Given the description of an element on the screen output the (x, y) to click on. 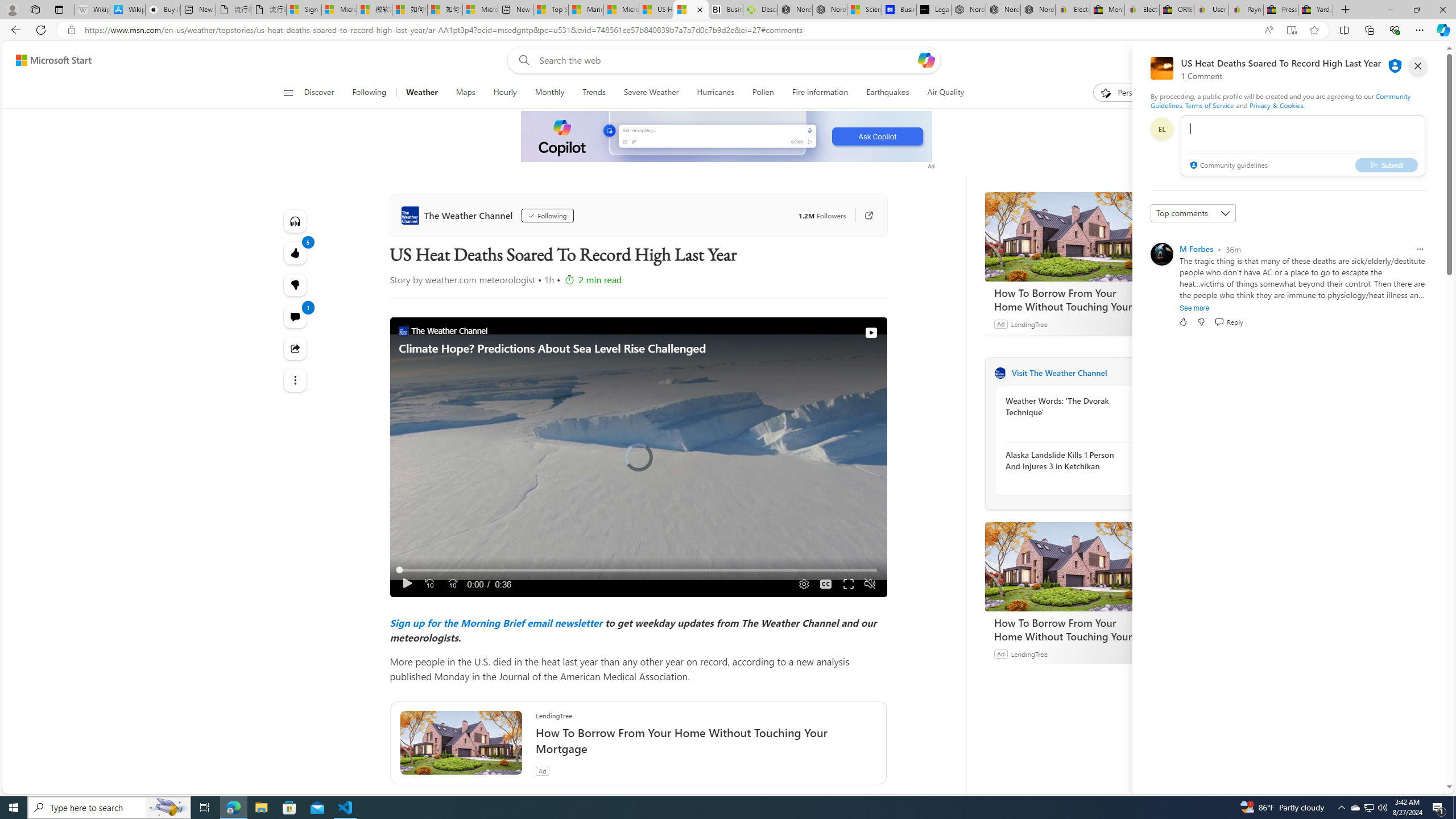
Microsoft rewards (1374, 60)
Top Stories - MSN (550, 9)
LendingTree (1029, 653)
close (1417, 65)
New tab (515, 9)
Monthly (549, 92)
Privacy & Cookies (1276, 104)
Press Room - eBay Inc. (1280, 9)
Maps (465, 92)
Open Copilot (926, 59)
Hourly (504, 92)
Profile Picture (1161, 254)
View on Watch View on Watch (844, 332)
View comments 1 Comment (295, 316)
